Given the description of an element on the screen output the (x, y) to click on. 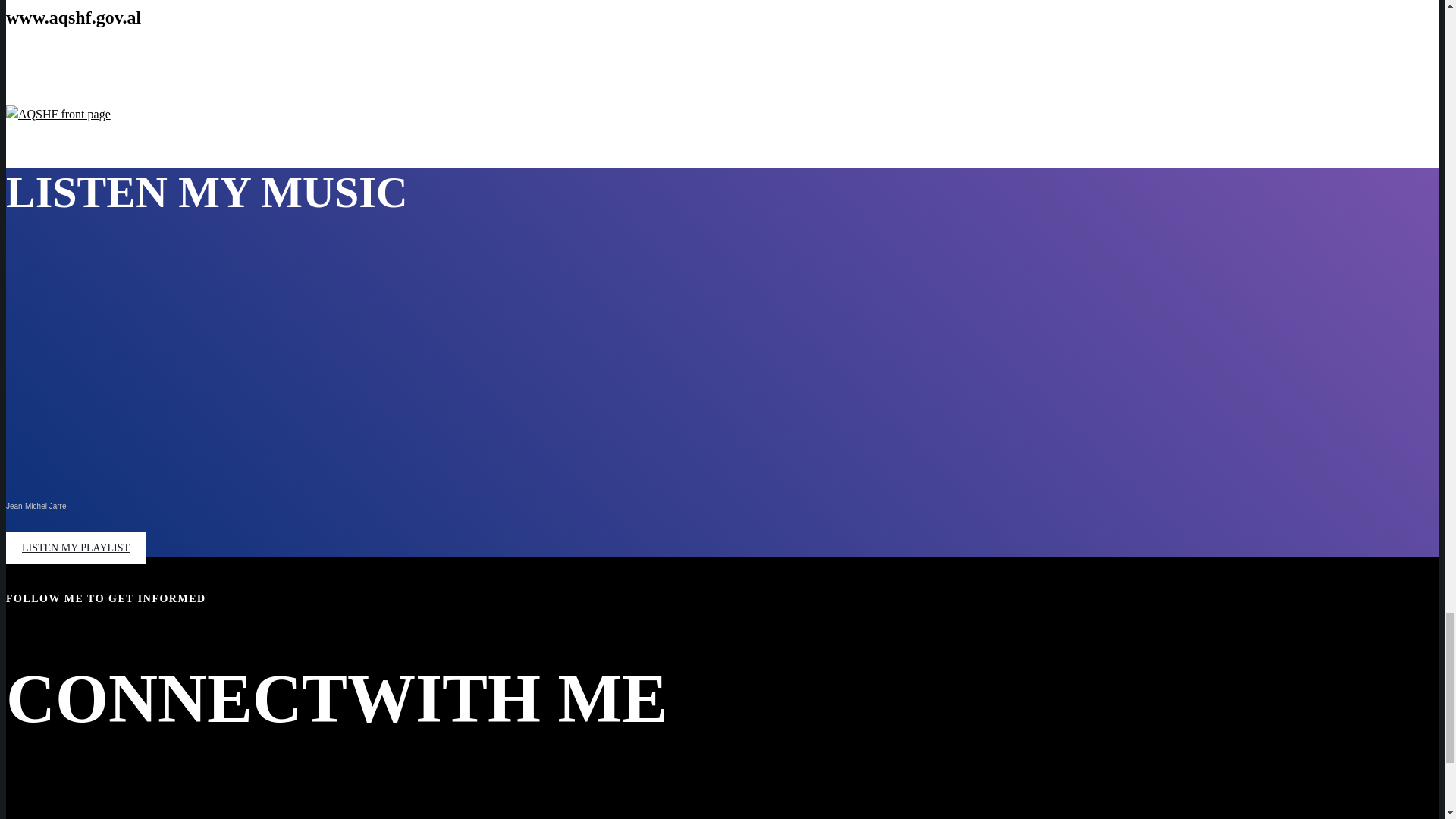
AQSHF front page (57, 114)
LISTEN MY PLAYLIST (75, 547)
